Given the description of an element on the screen output the (x, y) to click on. 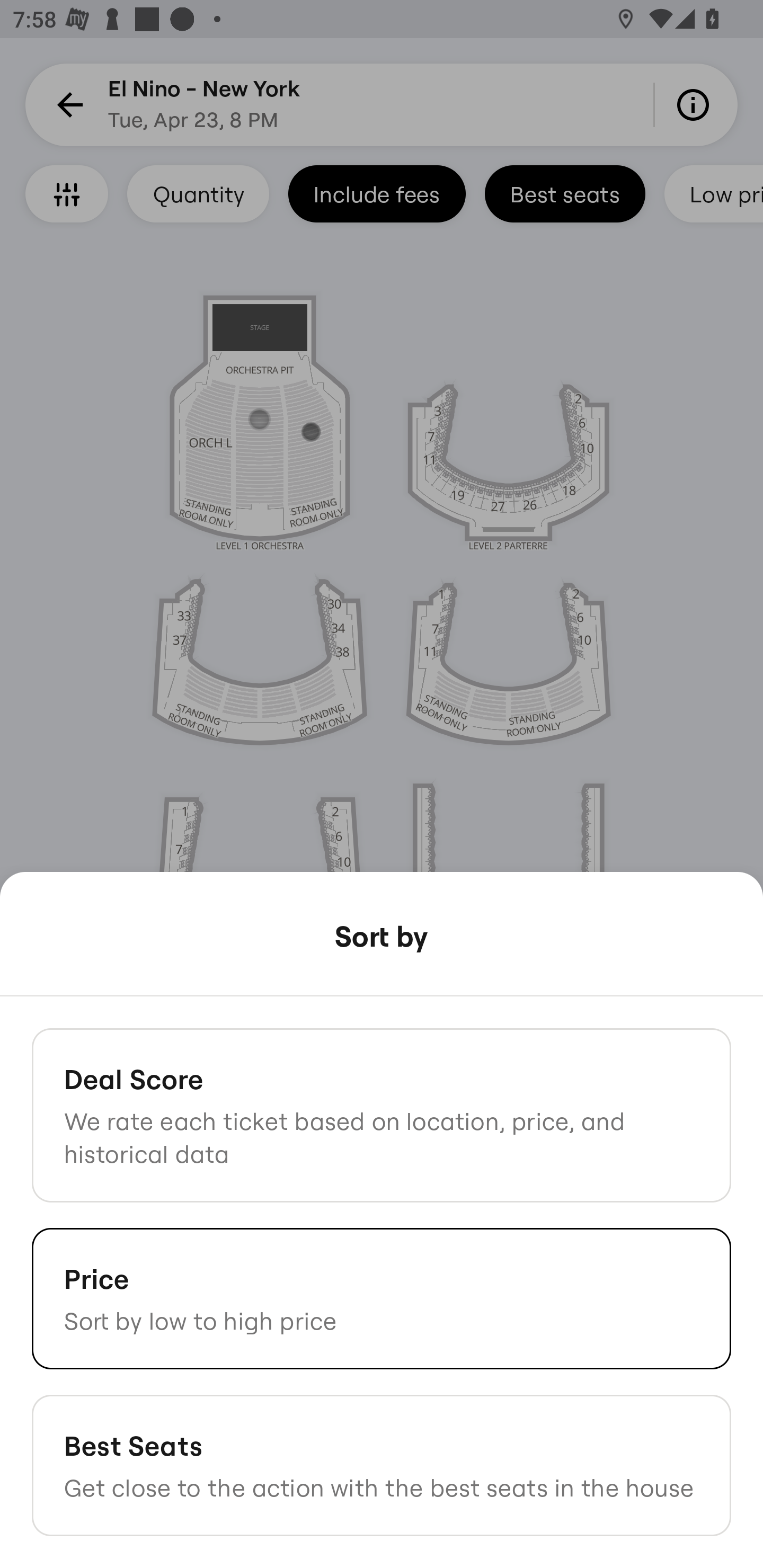
Price Sort by low to high price (381, 1297)
